Given the description of an element on the screen output the (x, y) to click on. 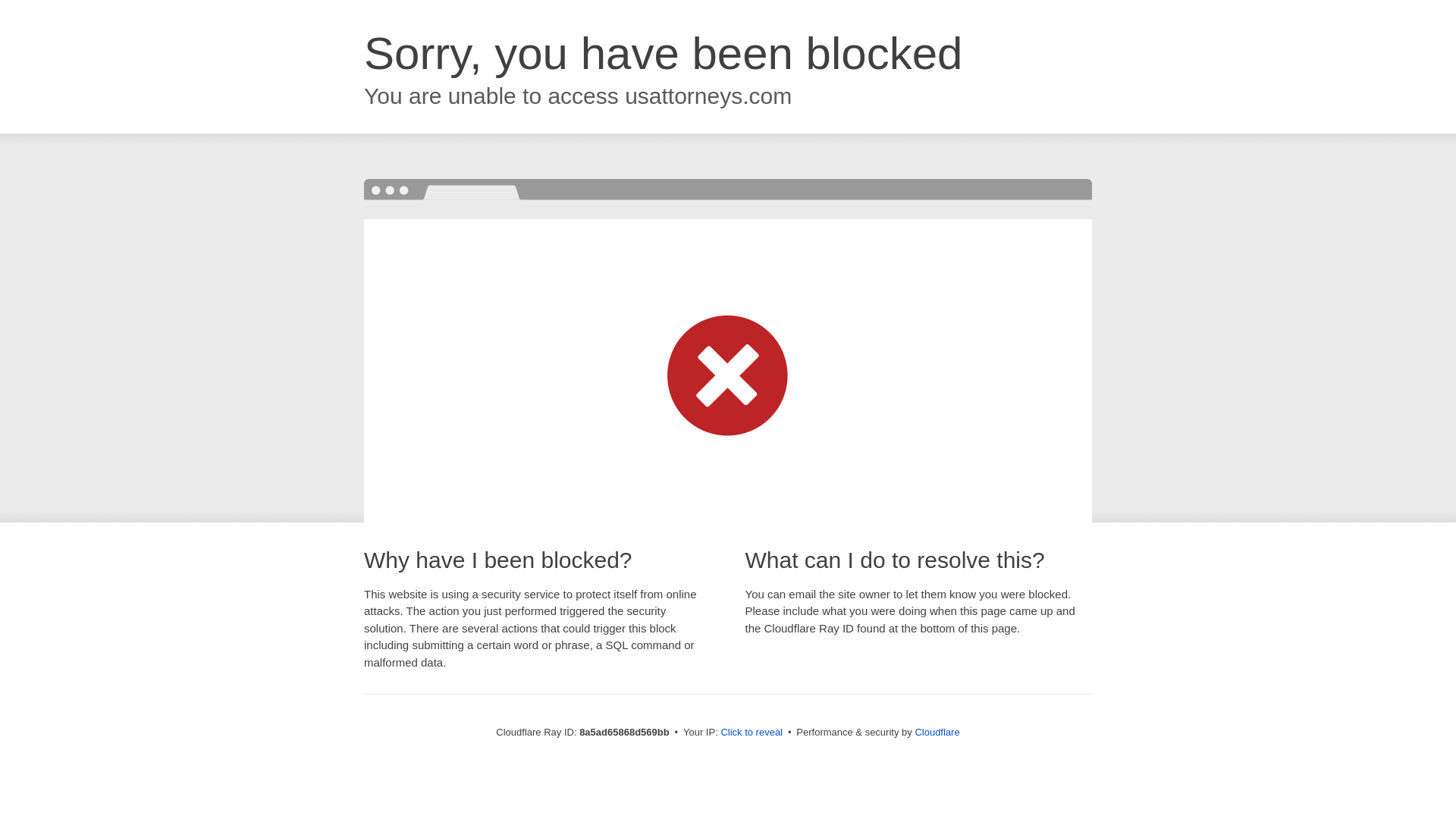
Cloudflare (936, 731)
Click to reveal (751, 732)
